Given the description of an element on the screen output the (x, y) to click on. 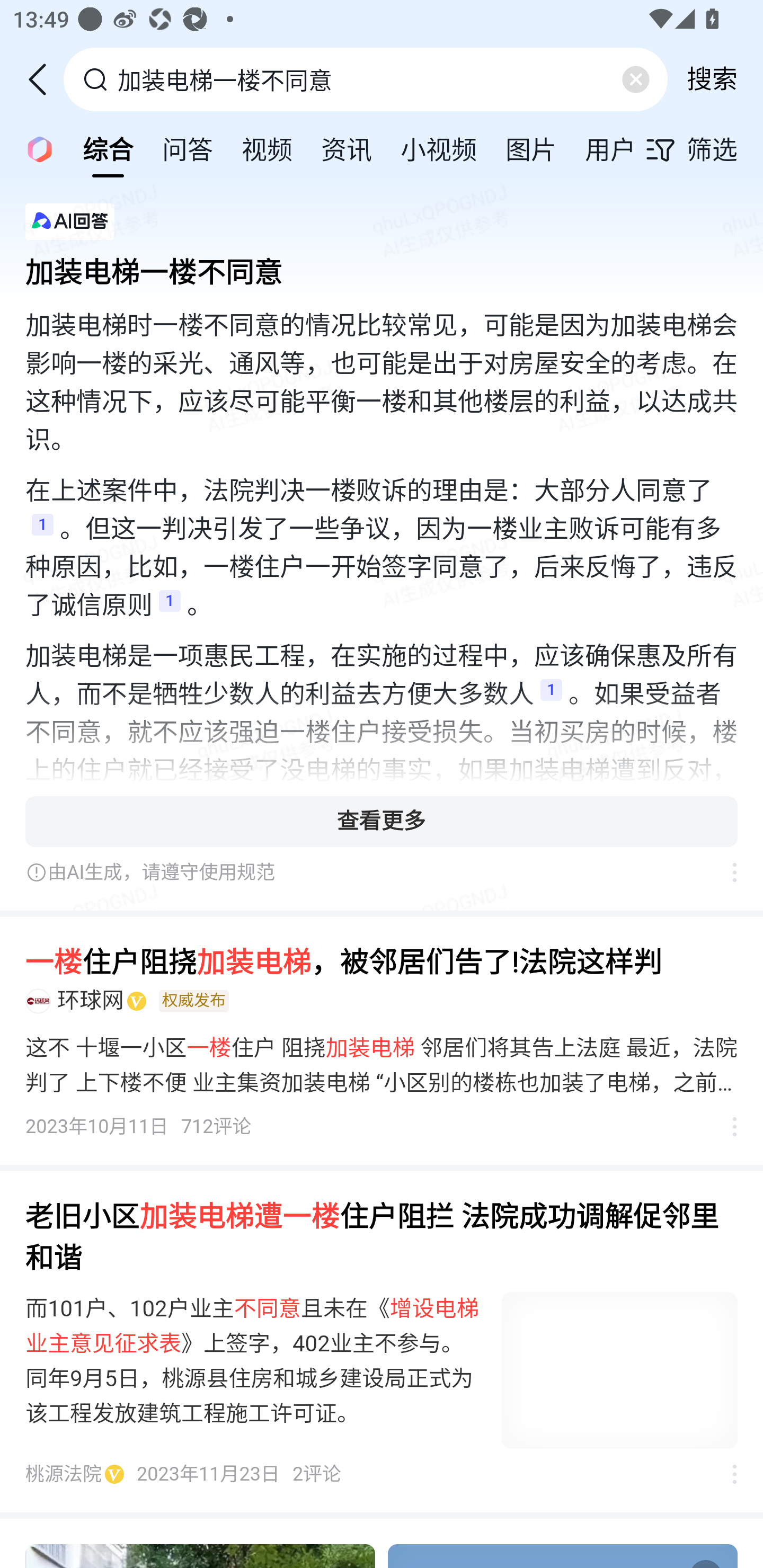
搜索框，加装电梯一楼不同意 (366, 79)
搜索 (711, 79)
返回 (44, 79)
清除 (635, 79)
问答 (187, 148)
视频 (266, 148)
资讯 (346, 148)
小视频 (438, 148)
图片 (530, 148)
用户 (610, 148)
筛选 (703, 149)
AI问答 (34, 148)
加装电梯一楼不同意 (381, 266)
1 (42, 529)
1 (169, 605)
1 (551, 694)
查看更多 (381, 821)
由AI生成，请遵守使用规范 (368, 872)
举报反馈 (724, 872)
一楼住户阻挠加装电梯，被邻居们告了!法院这样判 一楼 住户阻挠 加装电梯 ，被邻居们告了!法院这样判 (381, 962)
2023年10月11日 712评论 (138, 1126)
举报反馈 (724, 1126)
桃源法院 2023年11月23日2评论 (183, 1473)
举报反馈 (724, 1473)
